Given the description of an element on the screen output the (x, y) to click on. 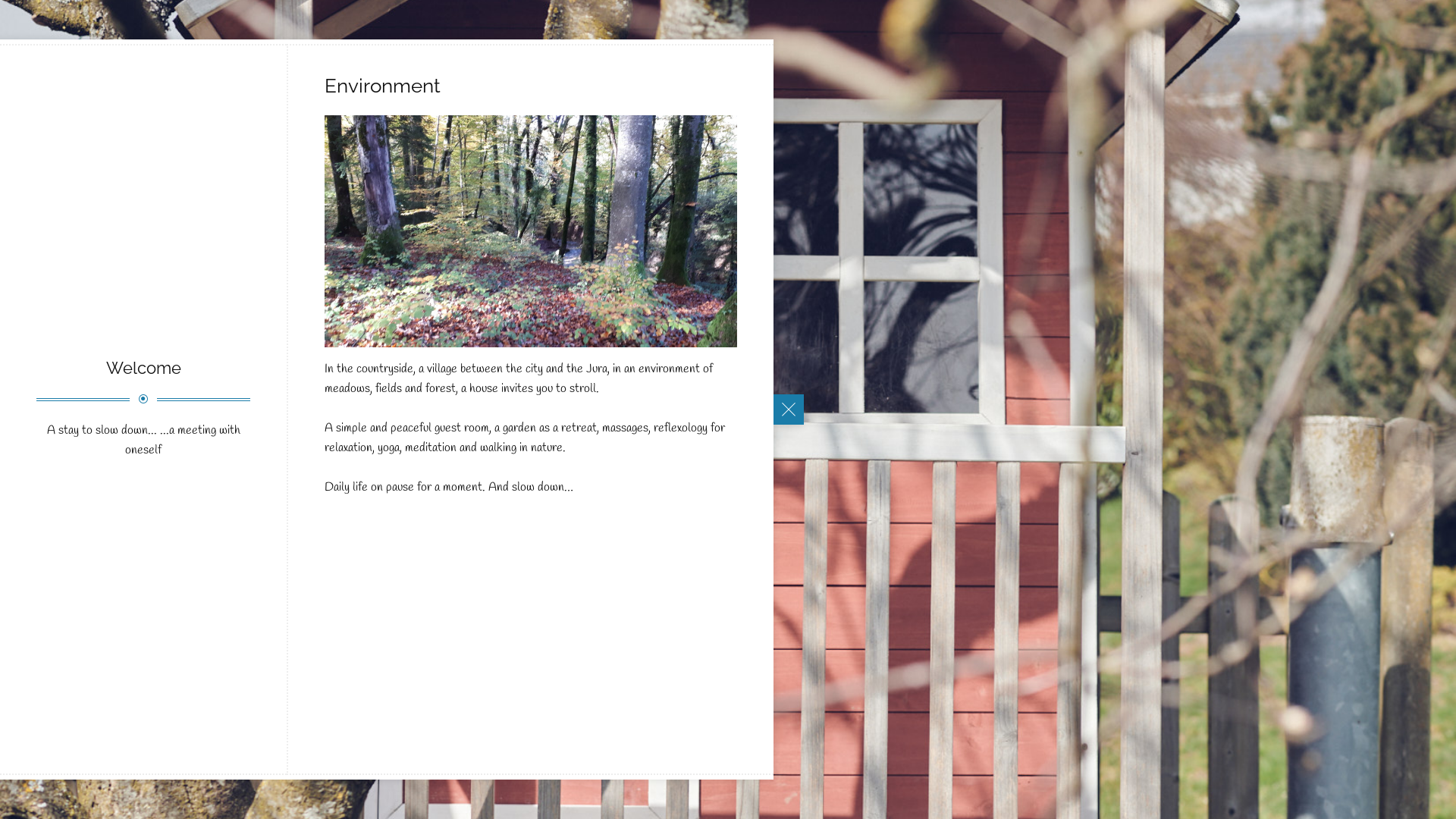
Philosophy Element type: text (505, 337)
Resourcing programs Element type: text (461, 422)
Evasion Element type: text (450, 441)
How to come Element type: text (432, 592)
ybresson.ch Element type: text (370, 693)
English Element type: text (372, 732)
The cares Element type: text (375, 422)
Booking Element type: text (488, 572)
Deutsch Element type: text (429, 732)
ABOUT US Element type: text (432, 483)
Links Element type: text (360, 507)
Rates Element type: text (408, 441)
Like at home Element type: text (465, 357)
contact@auclairdesoi.ch Element type: text (432, 674)
WELCOME Element type: text (431, 313)
OFFER Element type: text (431, 398)
The therapists Element type: text (418, 507)
CONTACT Element type: text (432, 548)
The bedroom Element type: text (363, 337)
The hosts Element type: text (490, 507)
Terms and conditions Element type: text (406, 572)
Environment Element type: text (437, 337)
Back to homepage Element type: hover (788, 409)
At the table Element type: text (395, 357)
